Given the description of an element on the screen output the (x, y) to click on. 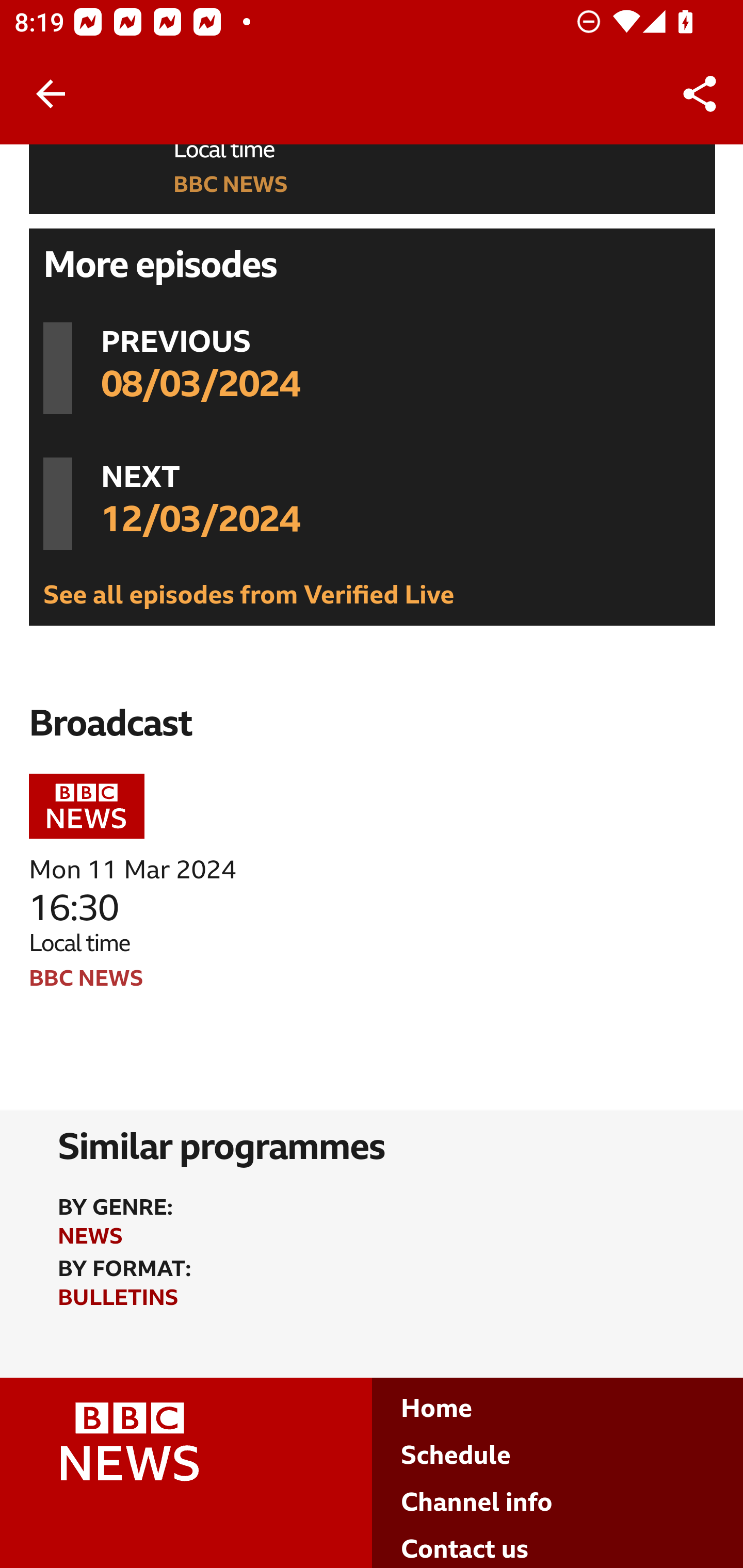
Back (50, 93)
Share (699, 93)
BBC NEWS (231, 187)
08/03/2024 (200, 384)
12/03/2024 (200, 520)
See all episodes from Verified Live (248, 594)
bbcnews (86, 810)
BBC NEWS (86, 978)
NEWS (89, 1238)
BULLETINS (117, 1299)
BBC News homepage (186, 1457)
Home (437, 1409)
Schedule (456, 1456)
Channel info (476, 1503)
Contact us (465, 1550)
